Given the description of an element on the screen output the (x, y) to click on. 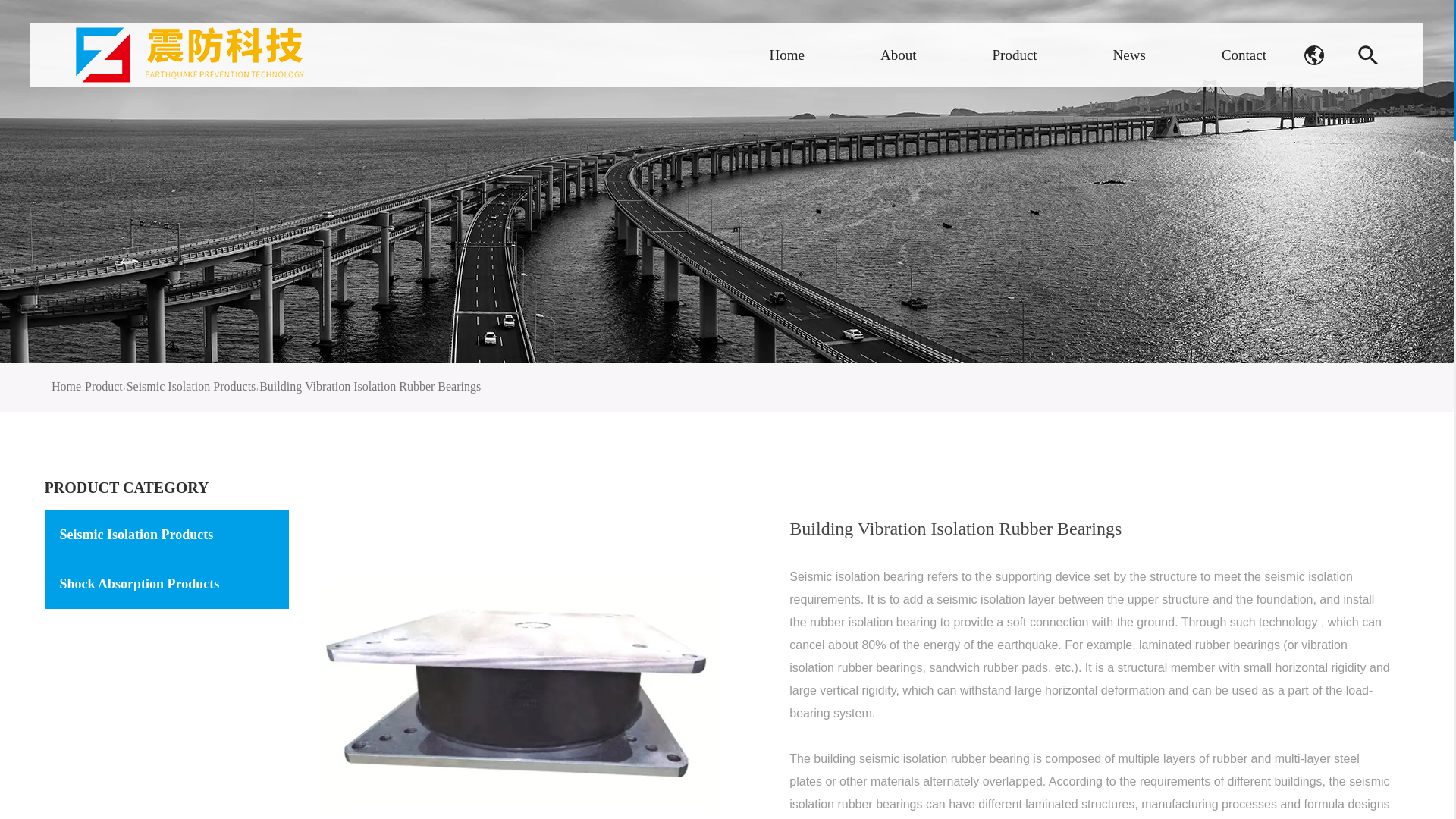
Product (1013, 54)
Contact (1243, 54)
Home (65, 386)
News (1129, 54)
Home (787, 54)
About (898, 54)
